Given the description of an element on the screen output the (x, y) to click on. 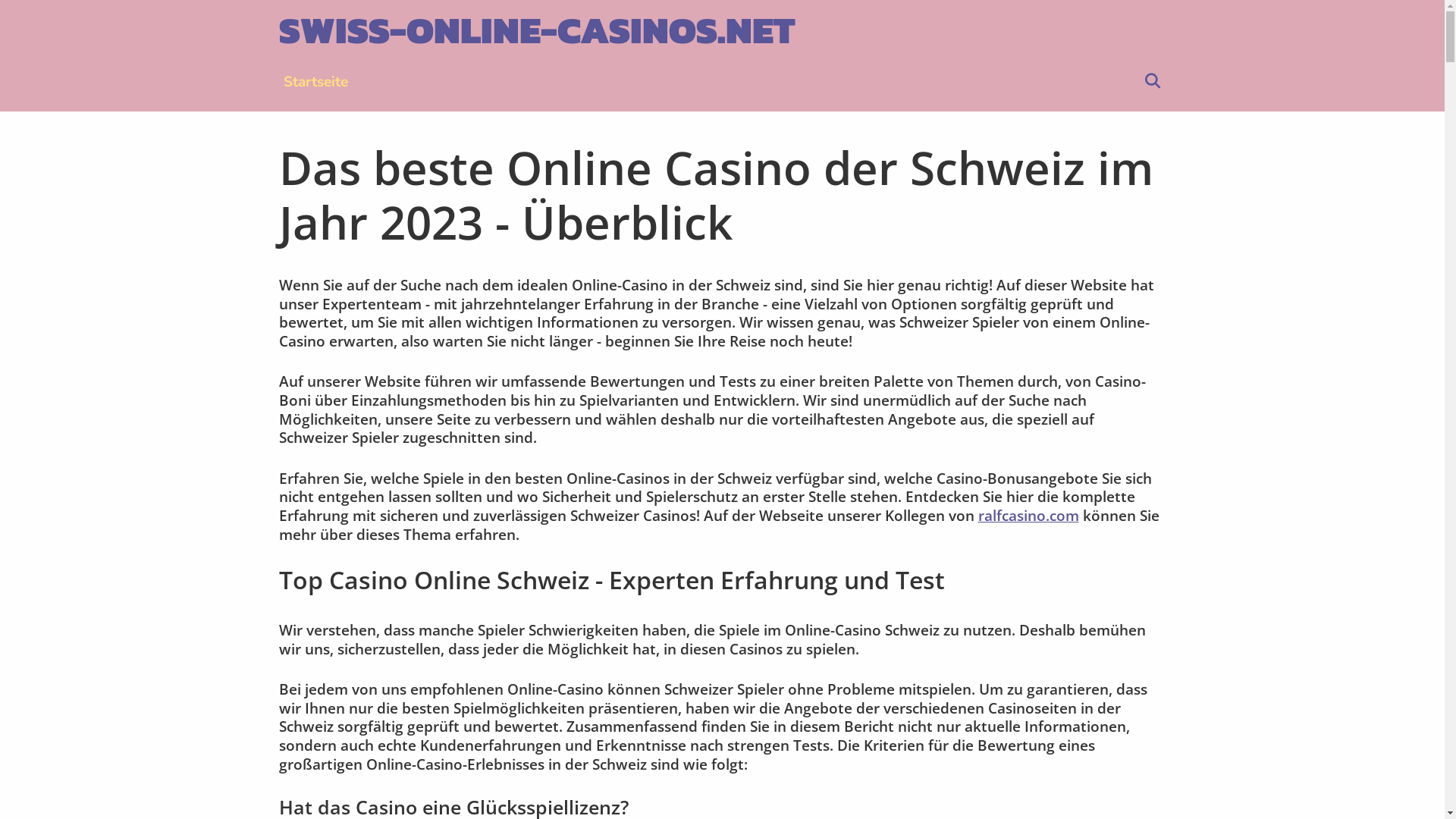
ralfcasino.com Element type: text (1028, 515)
Search Element type: text (1151, 81)
SWISS-ONLINE-CASINOS.NET Element type: text (537, 29)
Search Element type: text (443, 27)
Startseite Element type: text (315, 81)
